Given the description of an element on the screen output the (x, y) to click on. 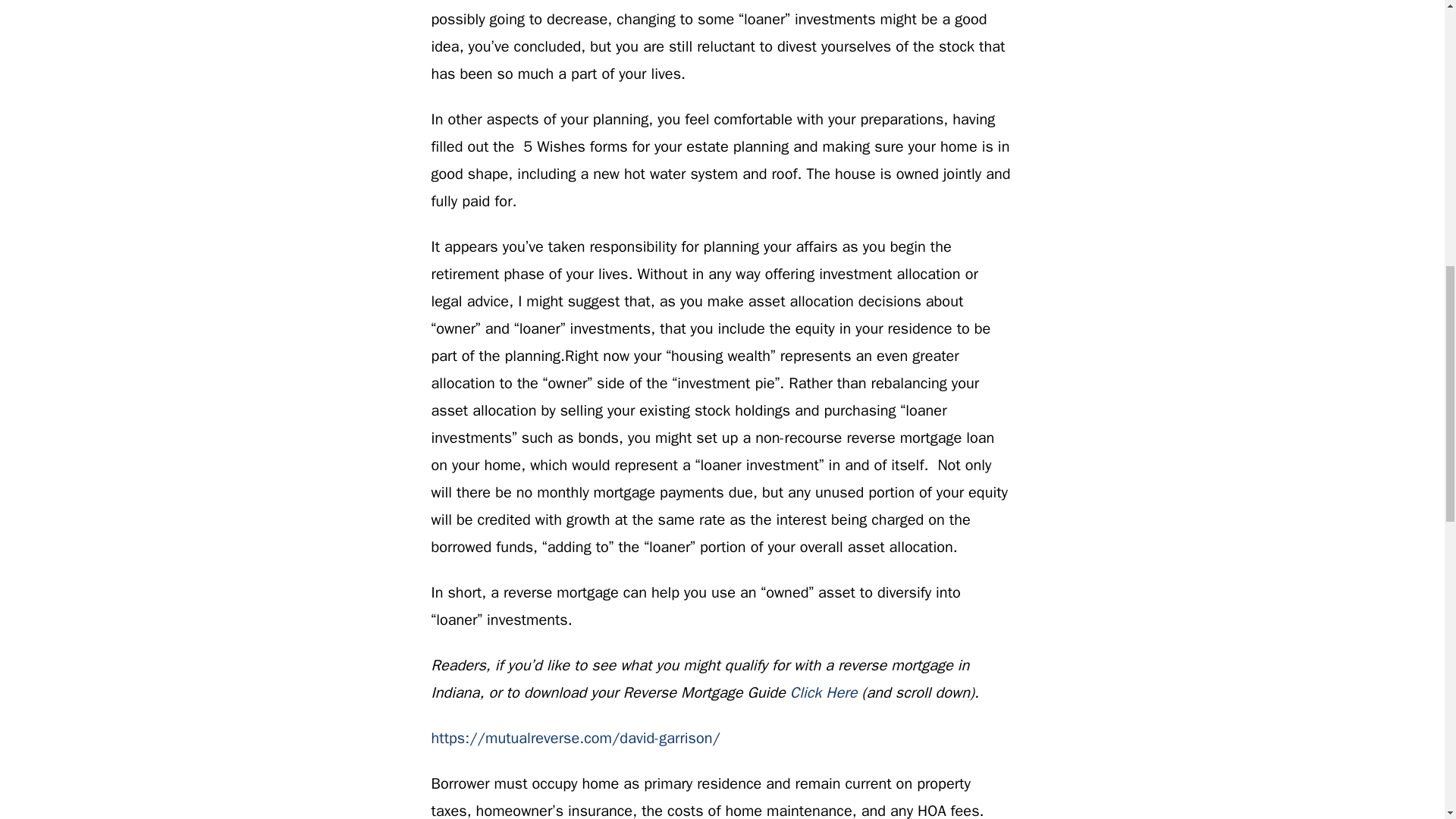
Click Here (823, 692)
